Given the description of an element on the screen output the (x, y) to click on. 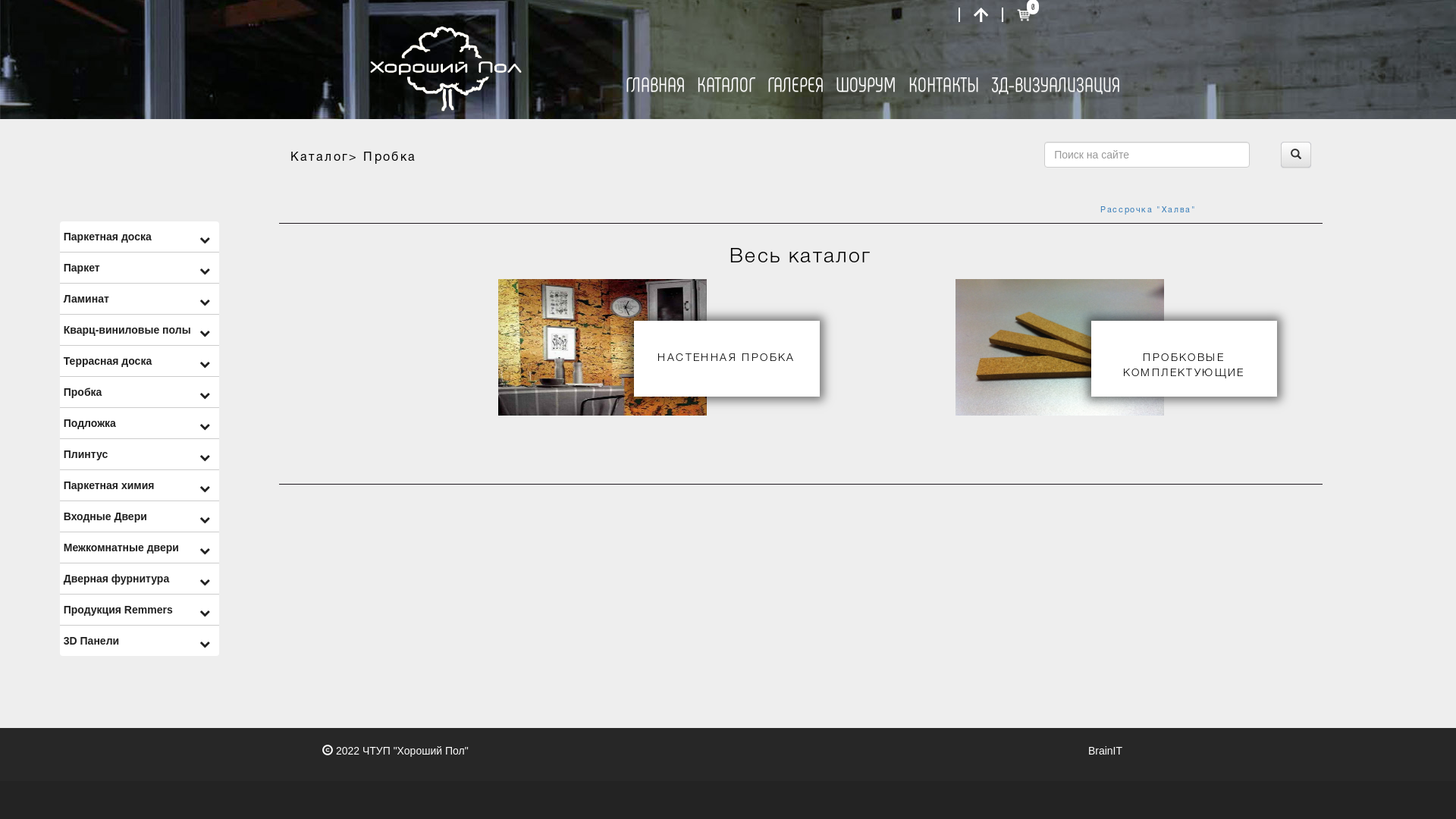
0 Element type: text (1024, 13)
BrainIT Element type: text (1105, 750)
